Given the description of an element on the screen output the (x, y) to click on. 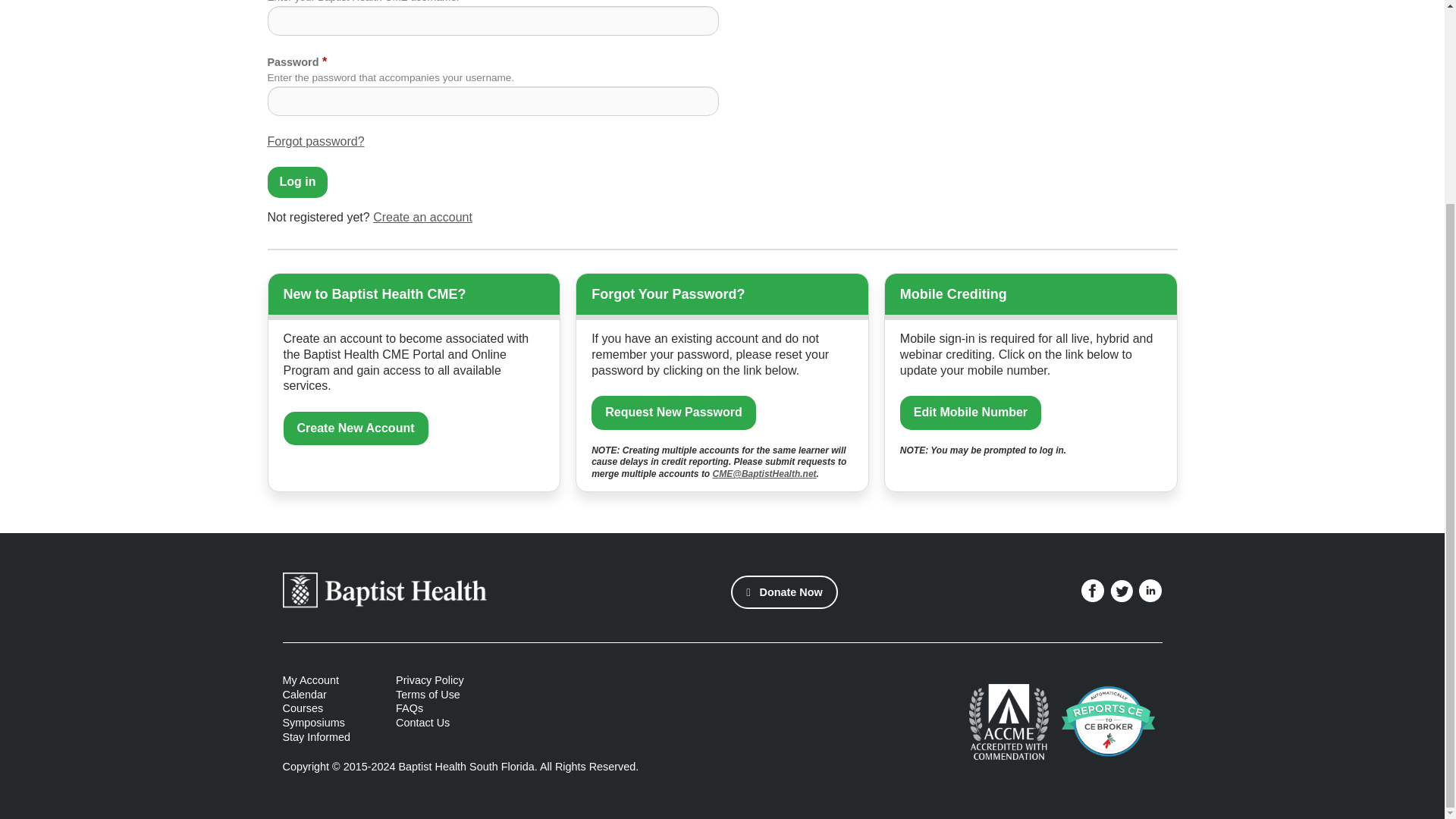
Log in (296, 182)
